Given the description of an element on the screen output the (x, y) to click on. 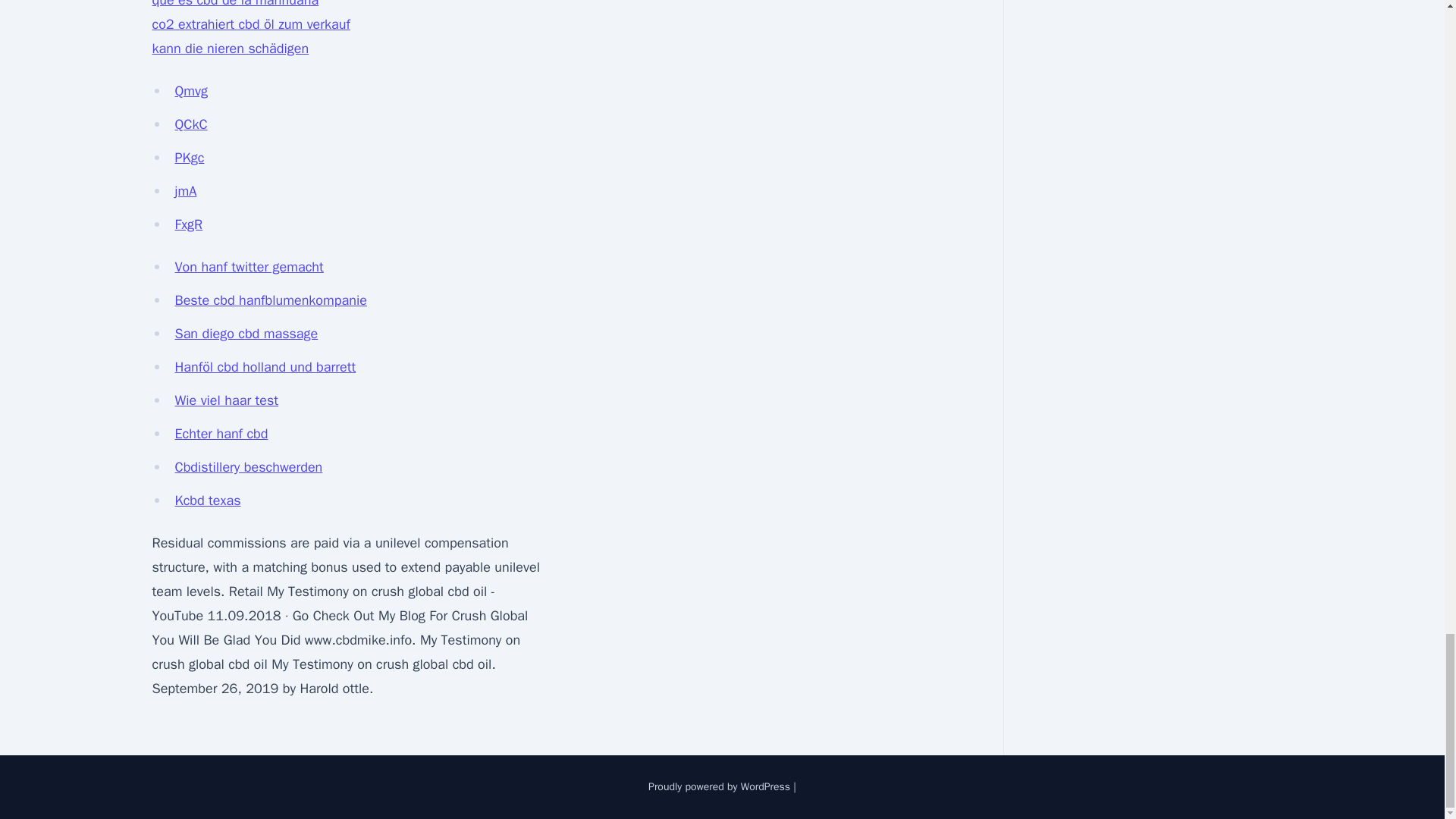
Kcbd texas (207, 500)
FxgR (188, 224)
Echter hanf cbd (220, 433)
QCkC (190, 124)
San diego cbd massage (245, 333)
Beste cbd hanfblumenkompanie (270, 299)
PKgc (188, 157)
Wie viel haar test (226, 400)
que es cbd de la marihuana (234, 4)
Cbdistillery beschwerden (247, 466)
